Given the description of an element on the screen output the (x, y) to click on. 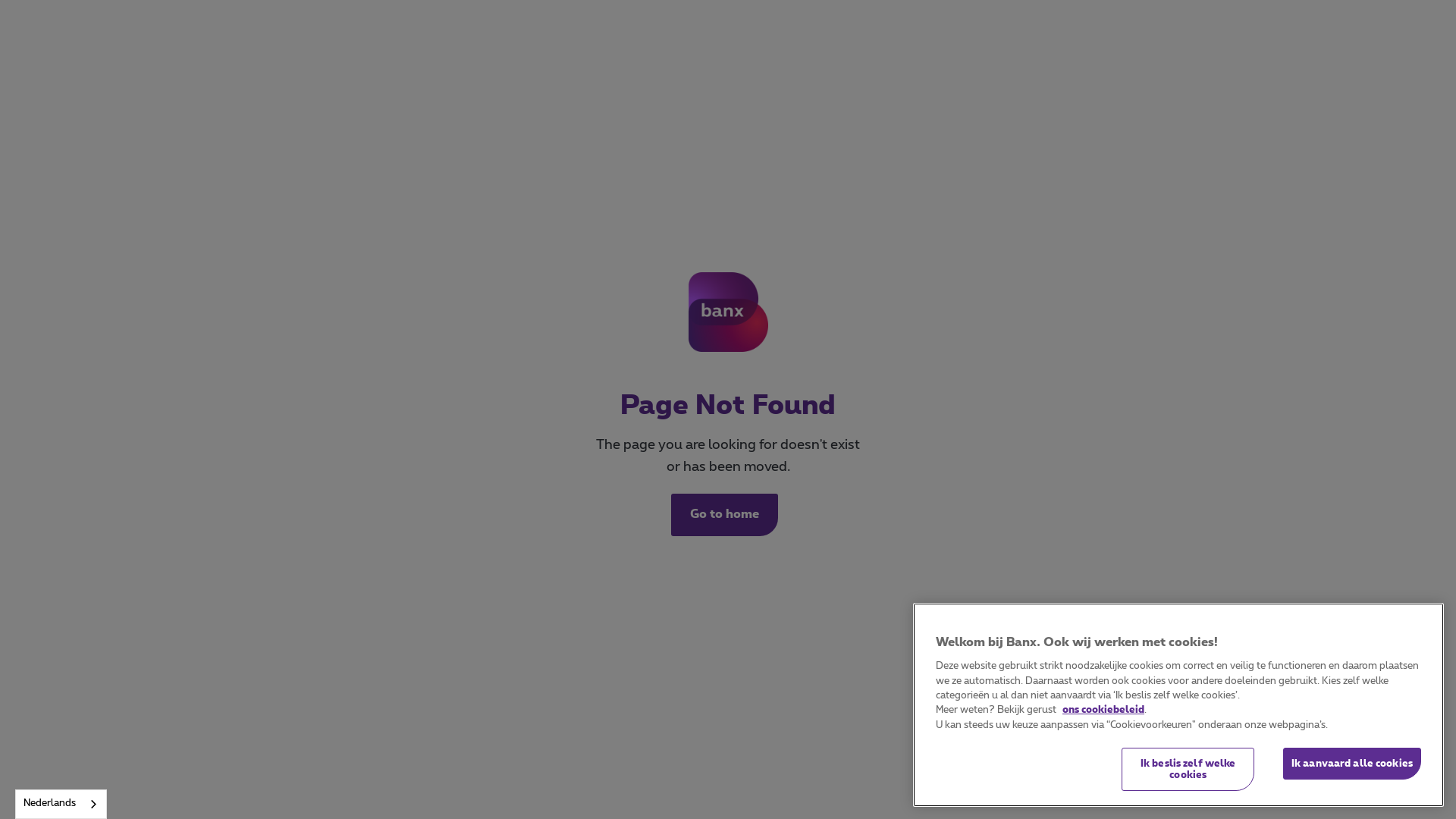
Ik aanvaard alle cookies Element type: text (1352, 764)
Nederlands Element type: text (60, 804)
Go to home Element type: text (723, 514)
ons cookiebeleid Element type: text (1103, 710)
Ik beslis zelf welke cookies Element type: text (1187, 769)
